Given the description of an element on the screen output the (x, y) to click on. 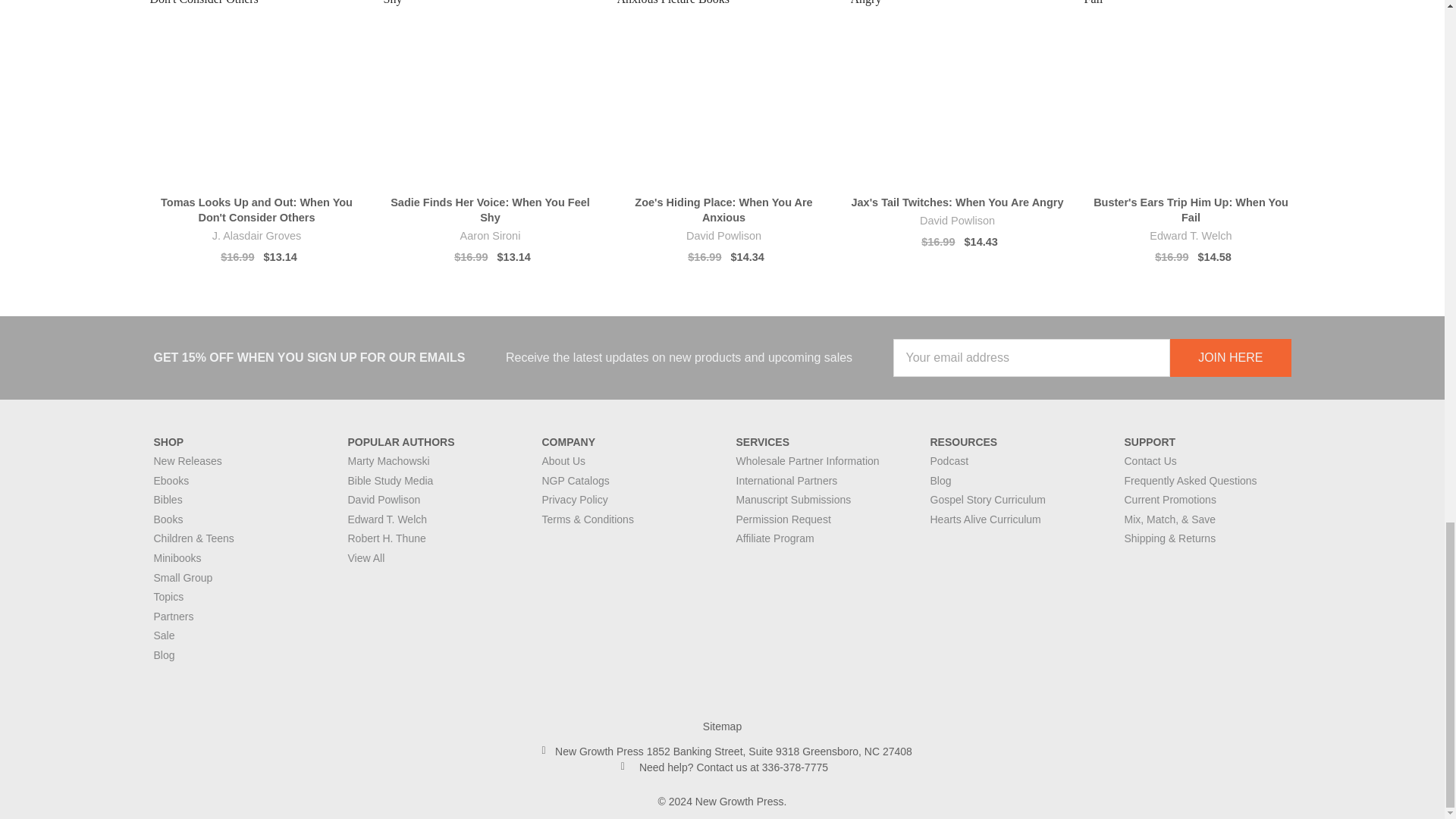
Zoe's Hiding Place: When You Are Anxious Picture Books (724, 92)
Join Here (1230, 357)
Jax's Tail Twitches: When You Are Angry (957, 92)
Tomas Looks Up and Out: When You Don't Consider Others (256, 92)
Sadie Finds Her Voice: When You Feel Shy (490, 92)
